Given the description of an element on the screen output the (x, y) to click on. 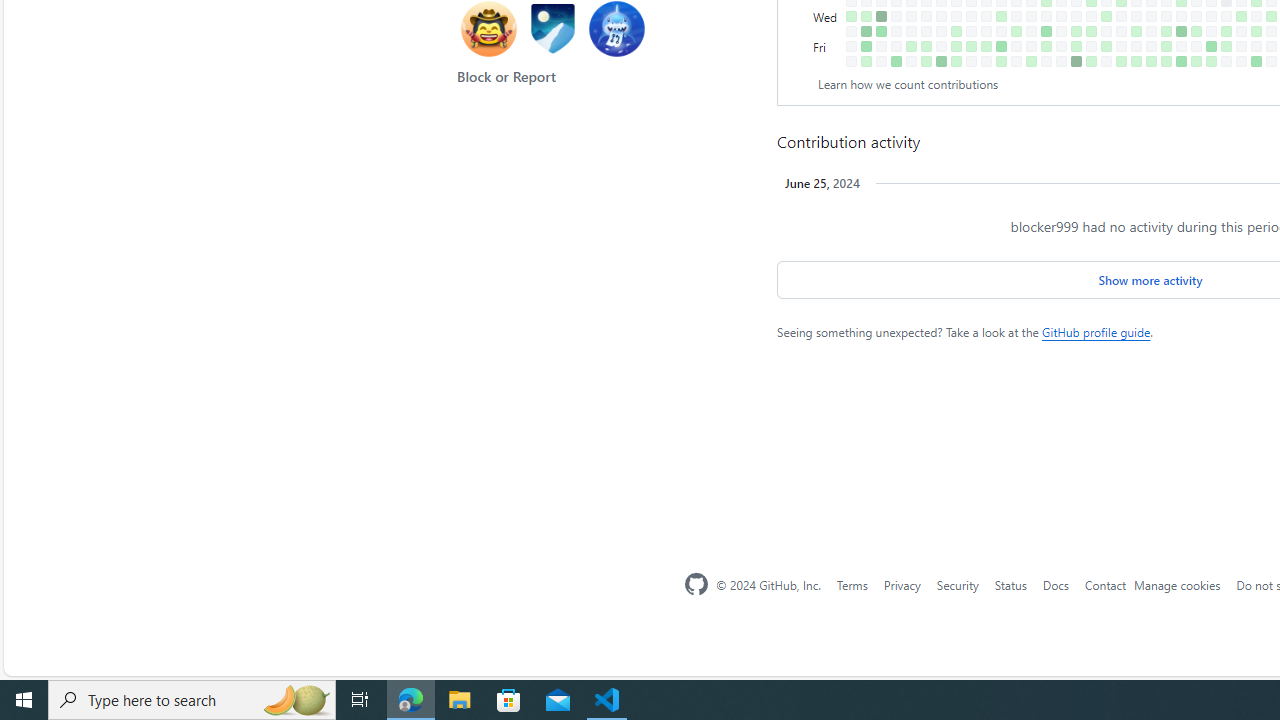
No contributions on February 28th. (971, 16)
1 contribution on January 13th. (866, 61)
No contributions on January 19th. (881, 46)
Homepage (696, 583)
No contributions on February 3rd. (911, 61)
No contributions on May 17th. (1136, 46)
No contributions on July 6th. (1241, 61)
3 contributions on March 1st. (971, 46)
No contributions on March 2nd. (971, 61)
No contributions on June 20th. (1211, 30)
2 contributions on February 24th. (956, 61)
GitHub profile guide (1095, 331)
3 contributions on April 19th. (1076, 46)
No contributions on February 16th. (941, 46)
1 contribution on March 8th. (986, 46)
